Given the description of an element on the screen output the (x, y) to click on. 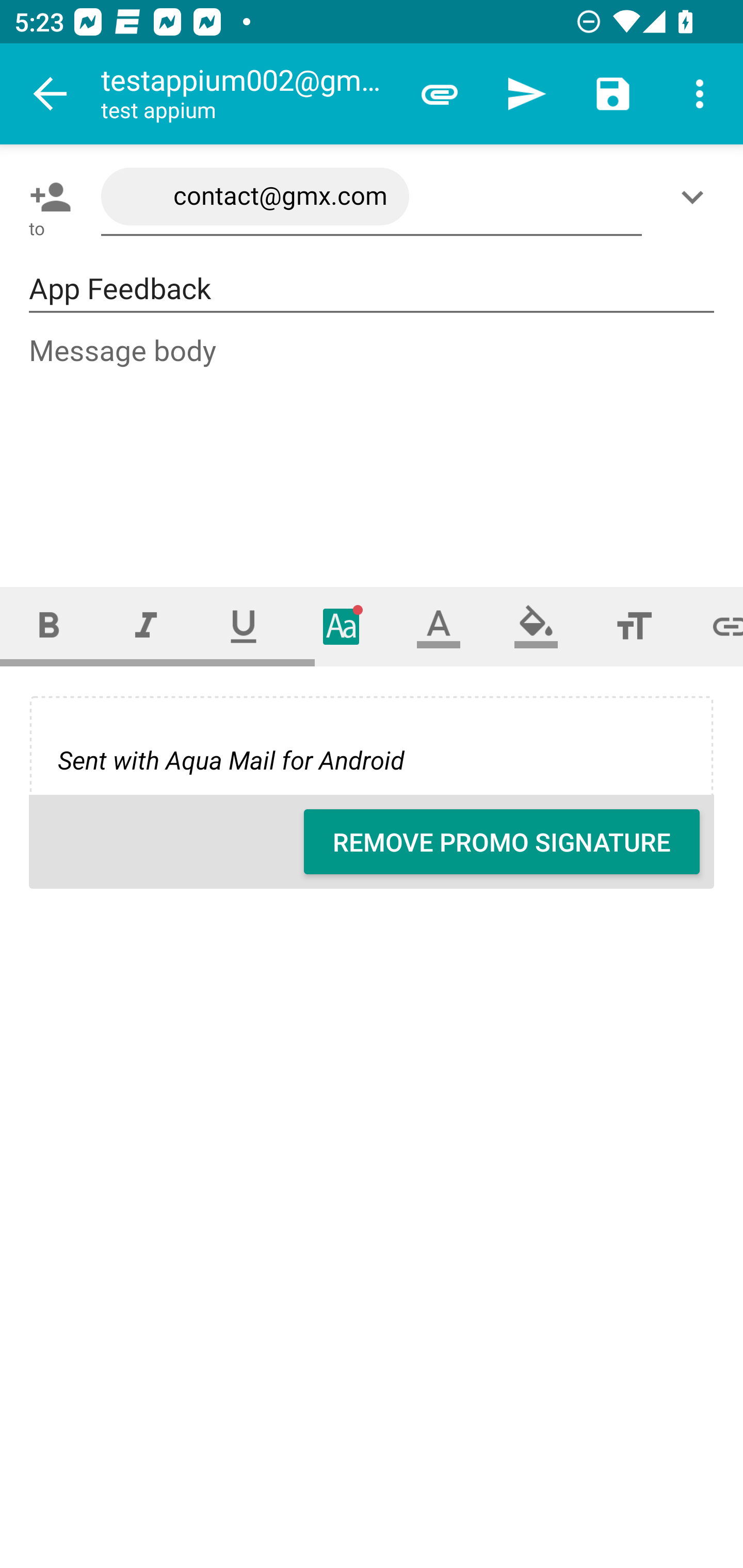
Navigate up (50, 93)
testappium002@gmail.com test appium (248, 93)
Attach (439, 93)
Send (525, 93)
Save (612, 93)
More options (699, 93)
contact@gmx.com,  (371, 197)
Pick contact: To (46, 196)
Show/Add CC/BCC (696, 196)
App Feedback (371, 288)
Message body (372, 442)
Bold (48, 626)
Italic (145, 626)
Underline (243, 626)
Typeface (font) (341, 626)
Text color (438, 626)
Fill color (536, 626)
Font size (633, 626)
Set link (712, 626)
REMOVE PROMO SIGNATURE (501, 841)
